Given the description of an element on the screen output the (x, y) to click on. 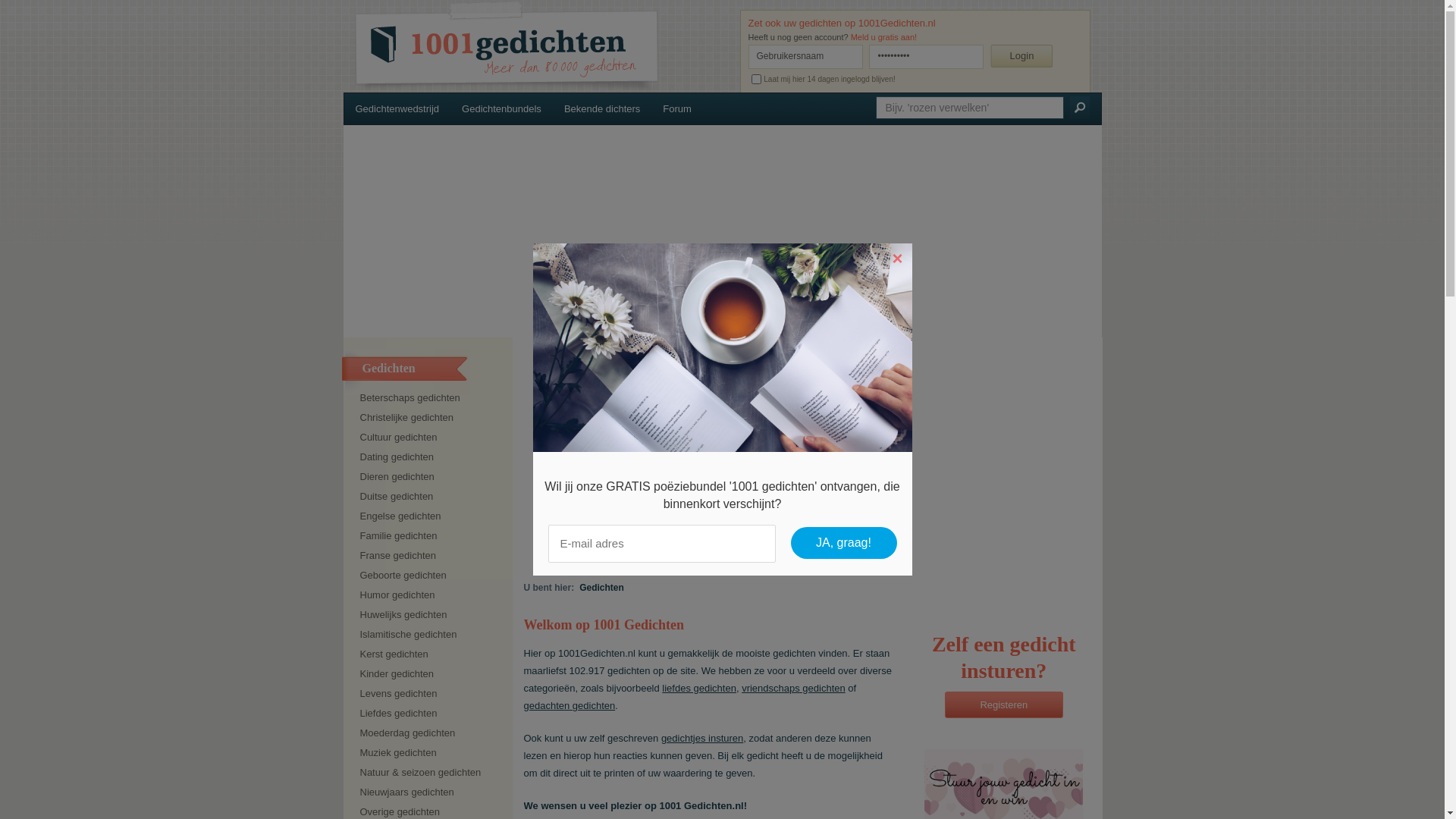
Duitse gedichten Element type: text (429, 496)
Cultuur gedichten Element type: text (429, 437)
Nieuwjaars gedichten Element type: text (429, 792)
Muziek gedichten Element type: text (429, 752)
Huwelijks gedichten Element type: text (429, 614)
Forum Element type: text (676, 108)
Franse gedichten Element type: text (429, 555)
Meld u gratis aan! Element type: text (883, 36)
Registeren Element type: text (1003, 704)
Gedichten Element type: text (602, 587)
Engelse gedichten Element type: text (429, 516)
Natuur & seizoen gedichten Element type: text (429, 772)
gedichtjes insturen Element type: text (702, 737)
Geboorte gedichten Element type: text (429, 575)
Levens gedichten Element type: text (429, 693)
Login Element type: text (1021, 55)
Beterschaps gedichten Element type: text (429, 397)
vriendschaps gedichten Element type: text (793, 687)
Dating gedichten Element type: text (429, 457)
Advertisement Element type: hover (721, 231)
Bekende dichters Element type: text (601, 108)
gedachten gedichten Element type: text (569, 705)
Humor gedichten Element type: text (429, 595)
Islamitische gedichten Element type: text (429, 634)
Advertisement Element type: hover (806, 451)
Kerst gedichten Element type: text (429, 654)
Christelijke gedichten Element type: text (429, 417)
liefdes gedichten Element type: text (699, 687)
Familie gedichten Element type: text (429, 536)
Liefdes gedichten Element type: text (429, 713)
Moederdag gedichten Element type: text (429, 733)
Kinder gedichten Element type: text (429, 674)
Dieren gedichten Element type: text (429, 476)
Gedichtenwedstrijd Element type: text (397, 108)
Gedichten Element type: hover (532, 46)
Gedichtenbundels Element type: text (501, 108)
